Given the description of an element on the screen output the (x, y) to click on. 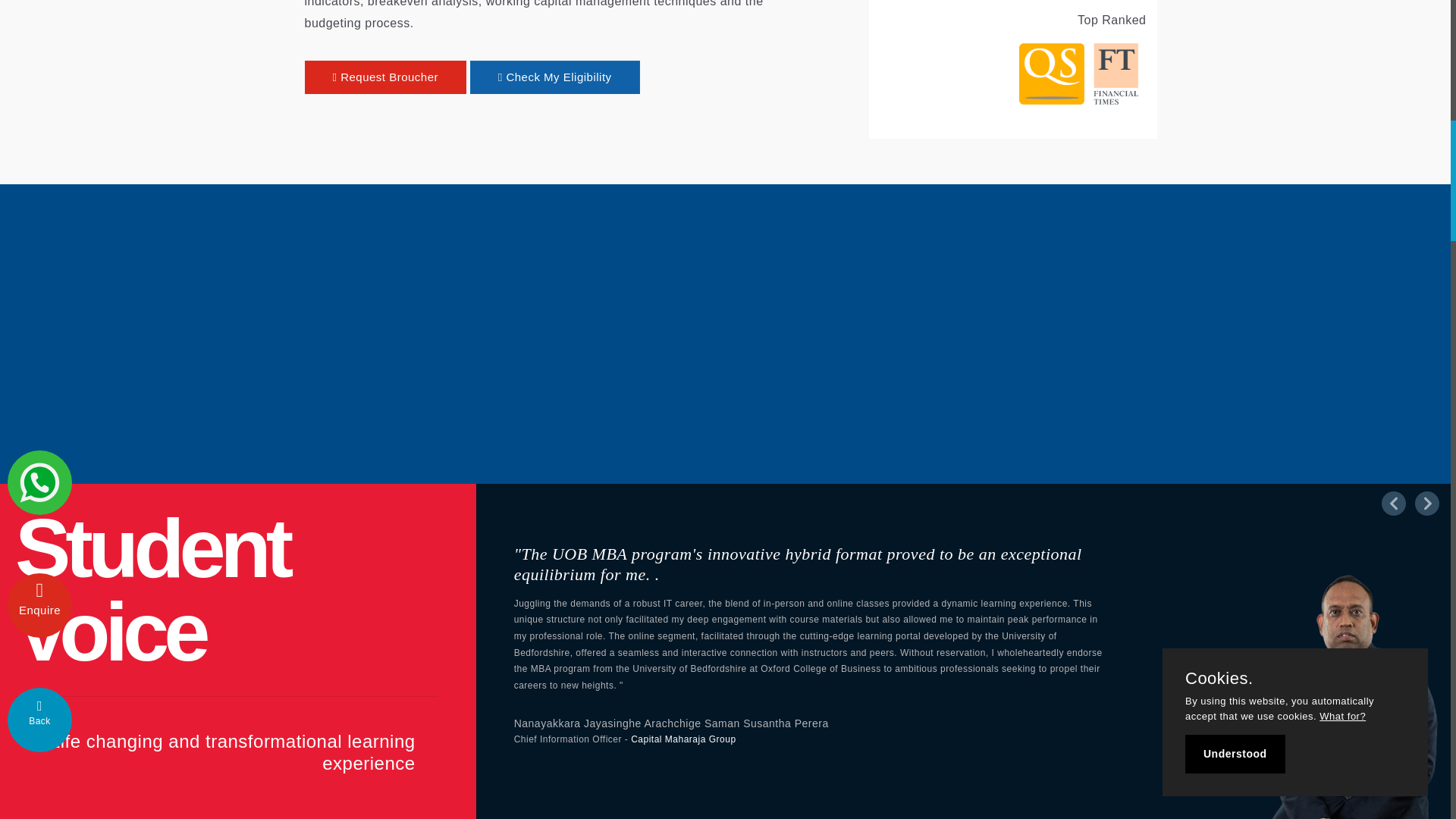
Request Broucher (385, 77)
